Given the description of an element on the screen output the (x, y) to click on. 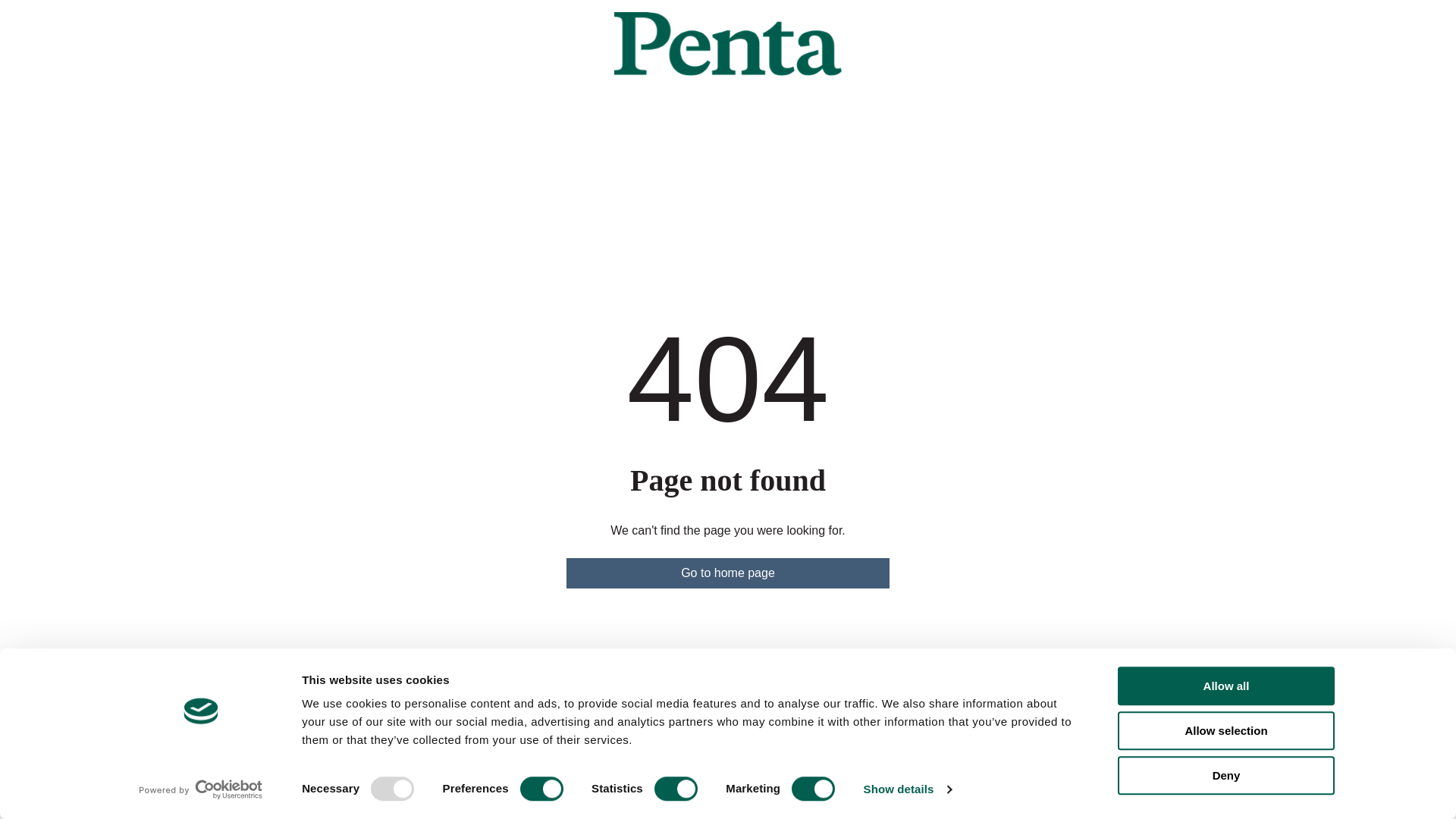
Show details (907, 789)
